Given the description of an element on the screen output the (x, y) to click on. 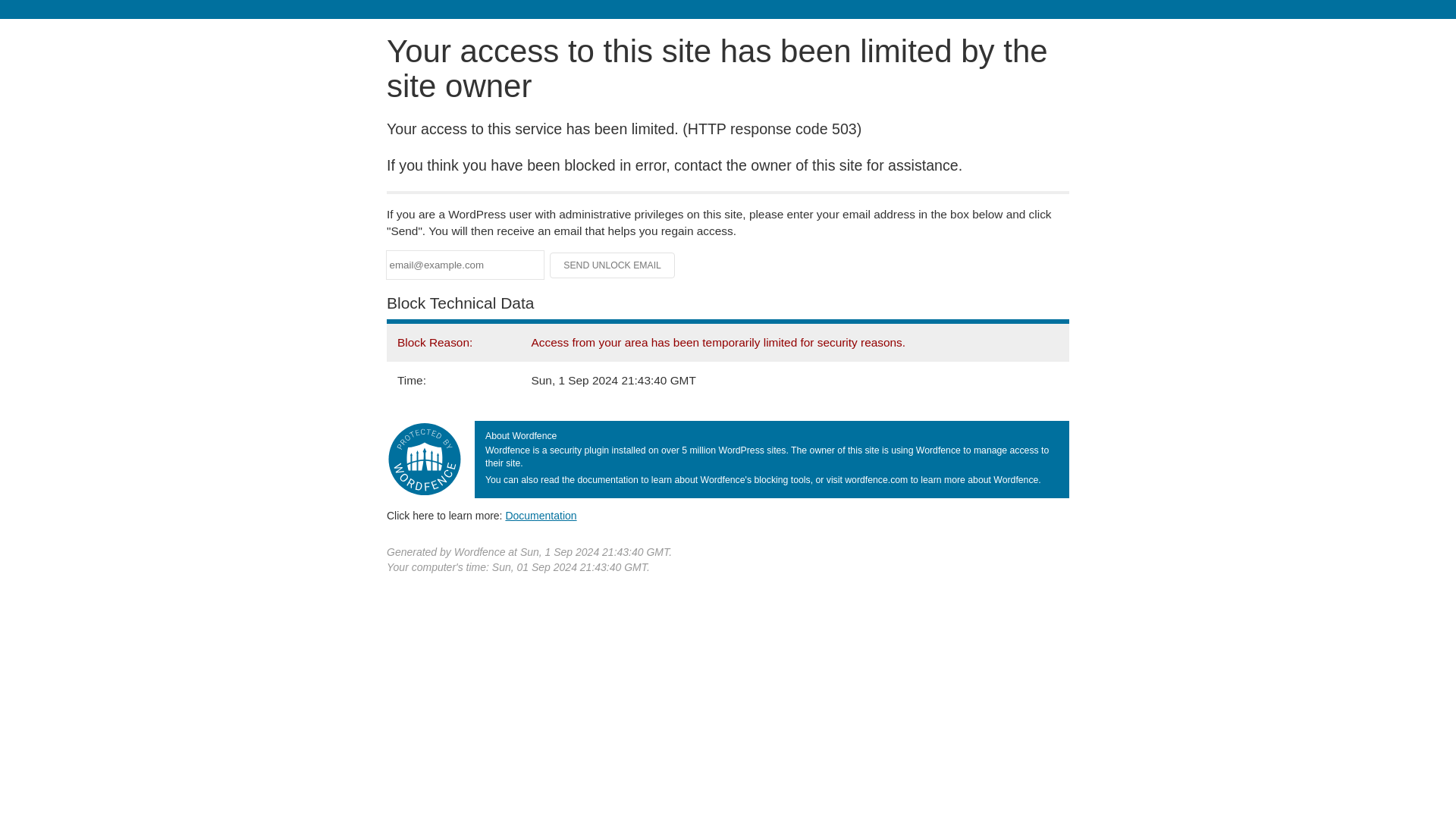
Documentation (540, 515)
Send Unlock Email (612, 265)
Send Unlock Email (612, 265)
